Given the description of an element on the screen output the (x, y) to click on. 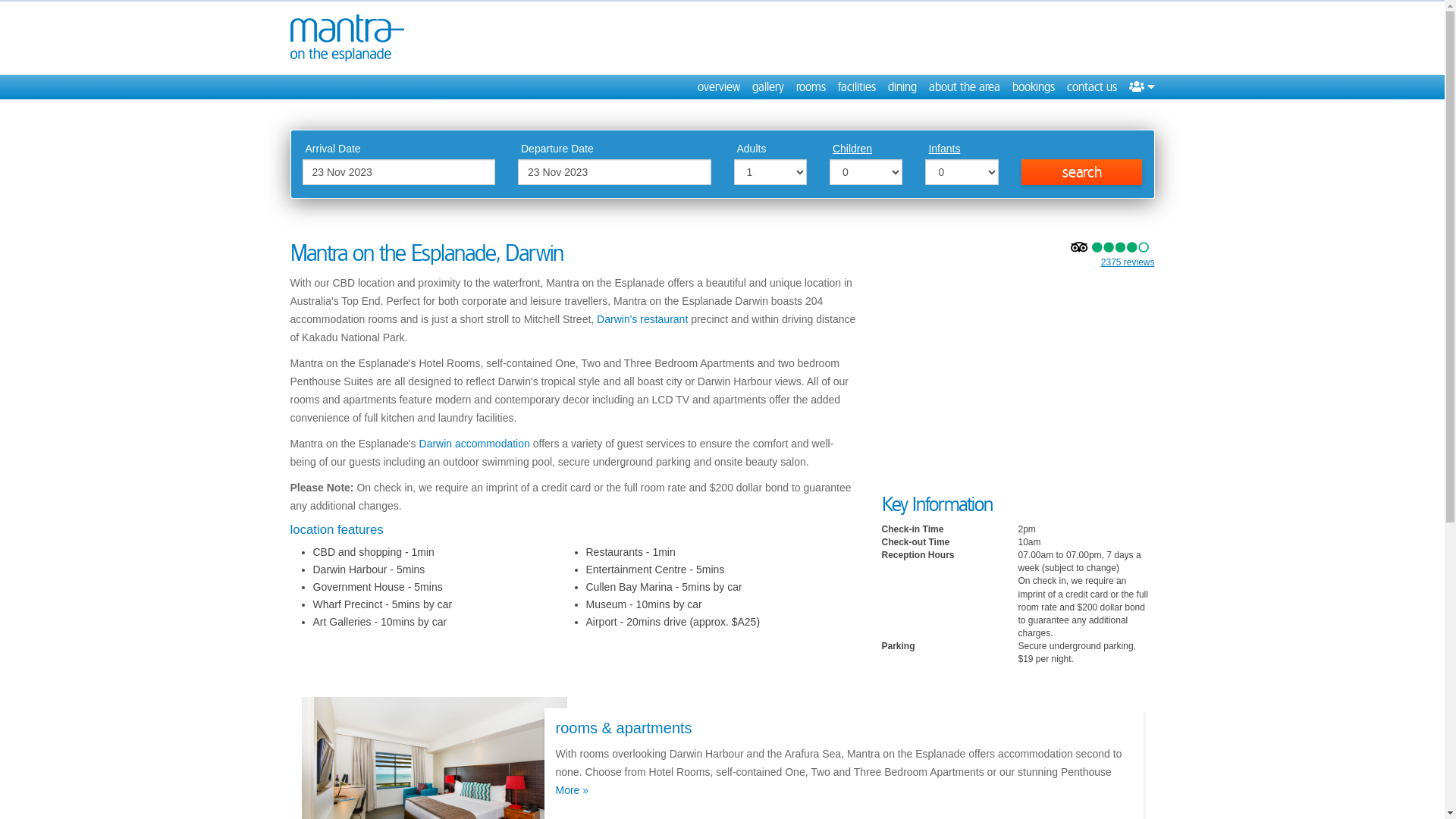
search Element type: text (1081, 172)
gallery Element type: text (768, 87)
Darwin accommodation Element type: text (474, 443)
overview Element type: text (718, 87)
2375 reviews Element type: text (1127, 262)
rooms Element type: text (810, 87)
dining Element type: text (901, 87)
Darwin's restaurant Element type: text (641, 319)
about the area Element type: text (963, 87)
facilities Element type: text (856, 87)
Mantra on the Esplanade Element type: hover (346, 37)
contact us Element type: text (1091, 87)
bookings Element type: text (1032, 87)
